Given the description of an element on the screen output the (x, y) to click on. 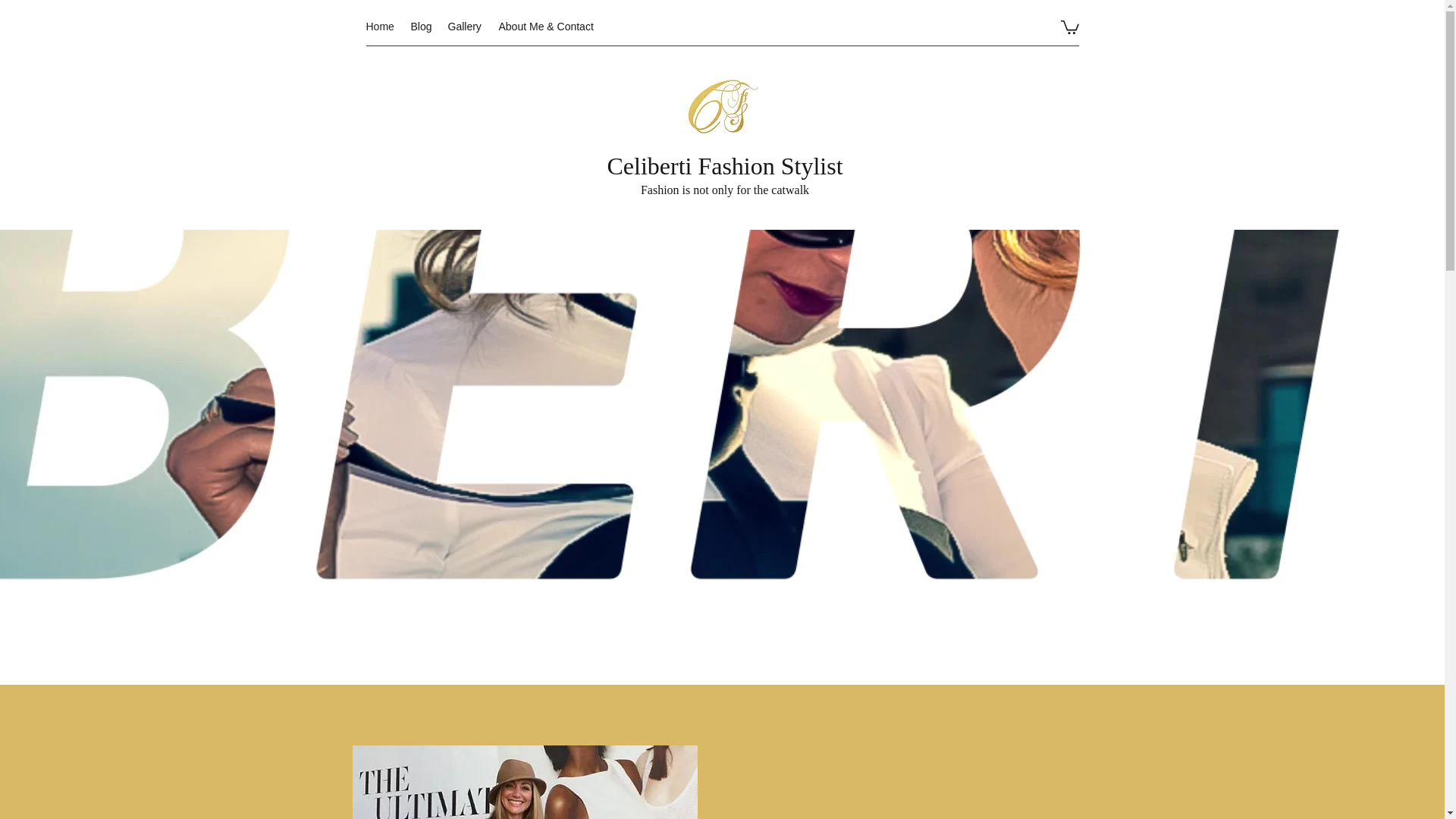
Blog (422, 26)
Celiberti Fashion Stylist (725, 165)
Home (380, 26)
Gallery (464, 26)
